Given the description of an element on the screen output the (x, y) to click on. 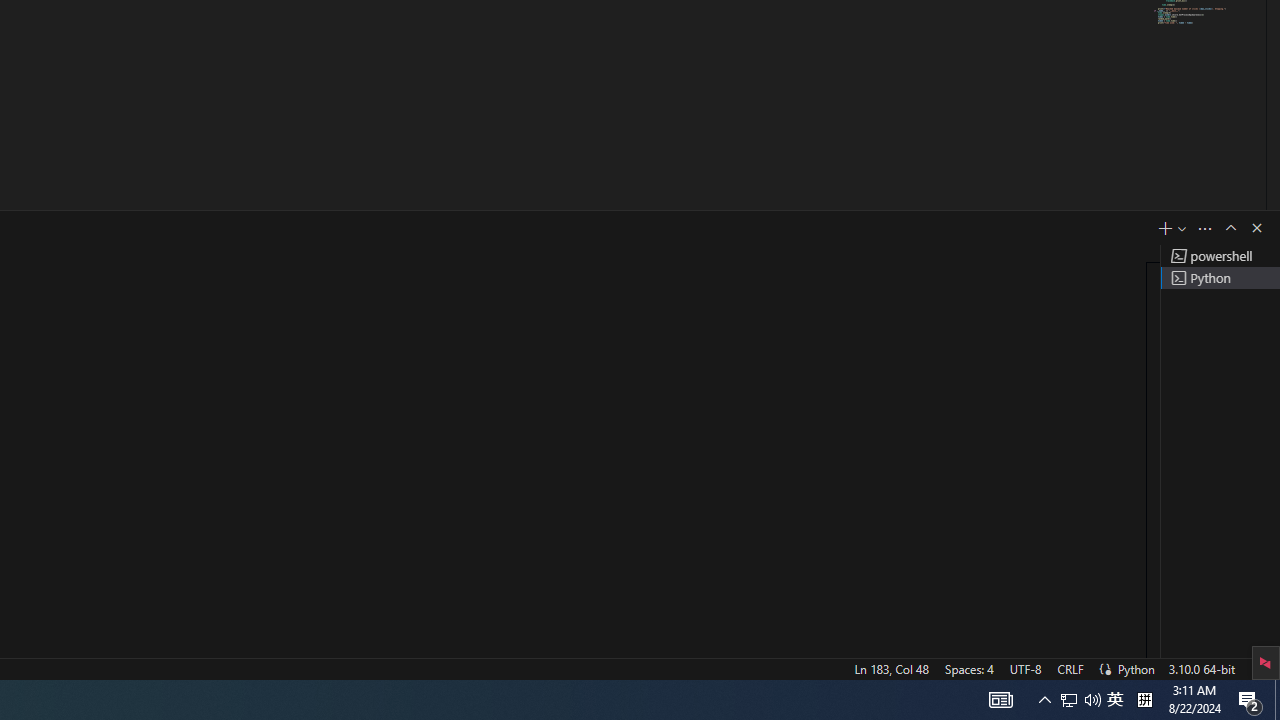
Maximize Panel Size (1230, 227)
Python (1135, 668)
